Given the description of an element on the screen output the (x, y) to click on. 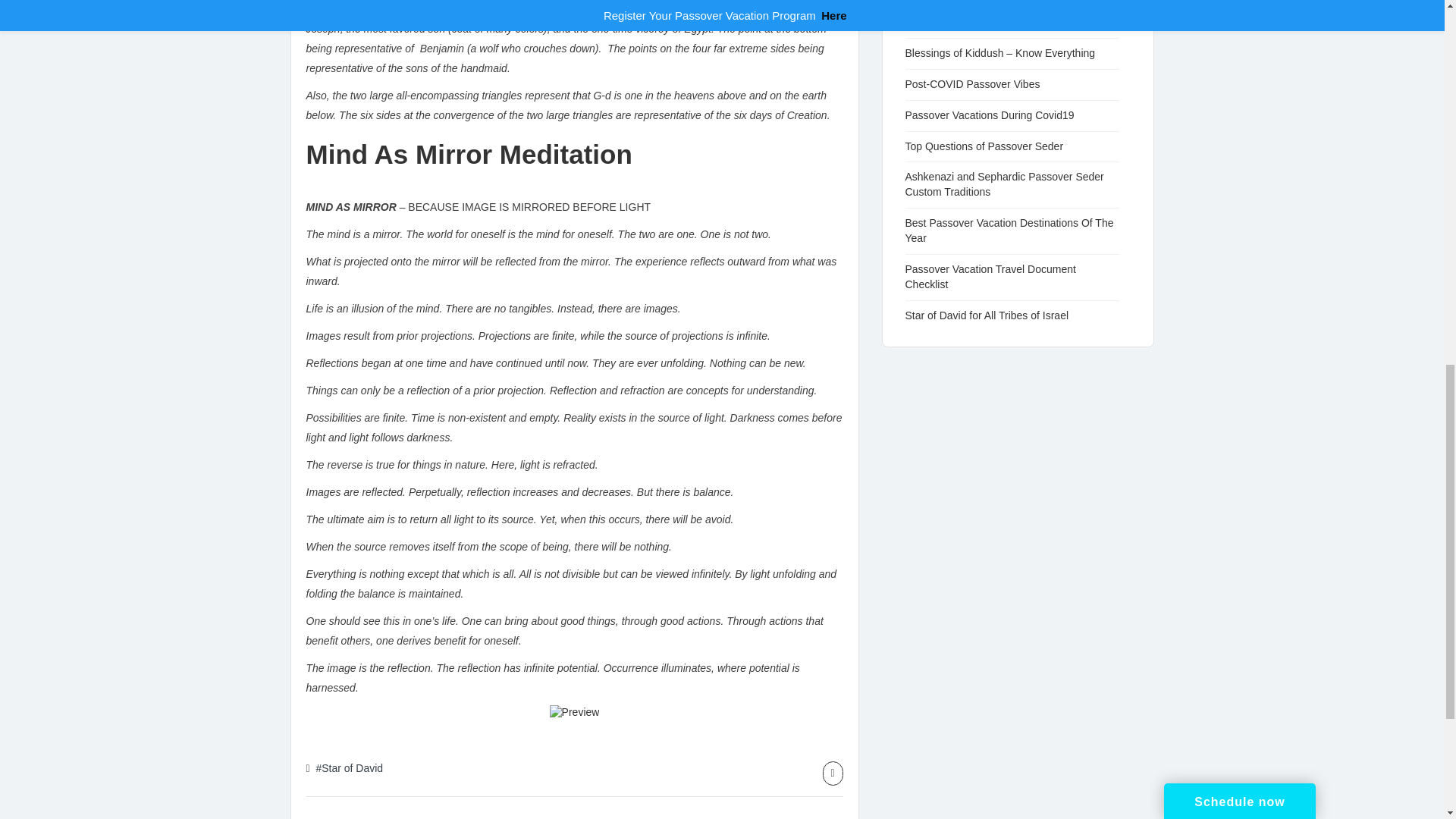
Passover Vacations During Covid19 (997, 114)
Connection Between Easter and Passover (981, 13)
Passover Vacation Travel Document Checklist (990, 276)
Post-COVID Passover Vibes (980, 83)
Ashkenazi and Sephardic Passover Seder Custom Traditions (1004, 184)
Best Passover Vacation Destinations Of The Year (1009, 230)
Star of David for All Tribes of Israel (994, 315)
Top Questions of Passover Seder (991, 145)
